Given the description of an element on the screen output the (x, y) to click on. 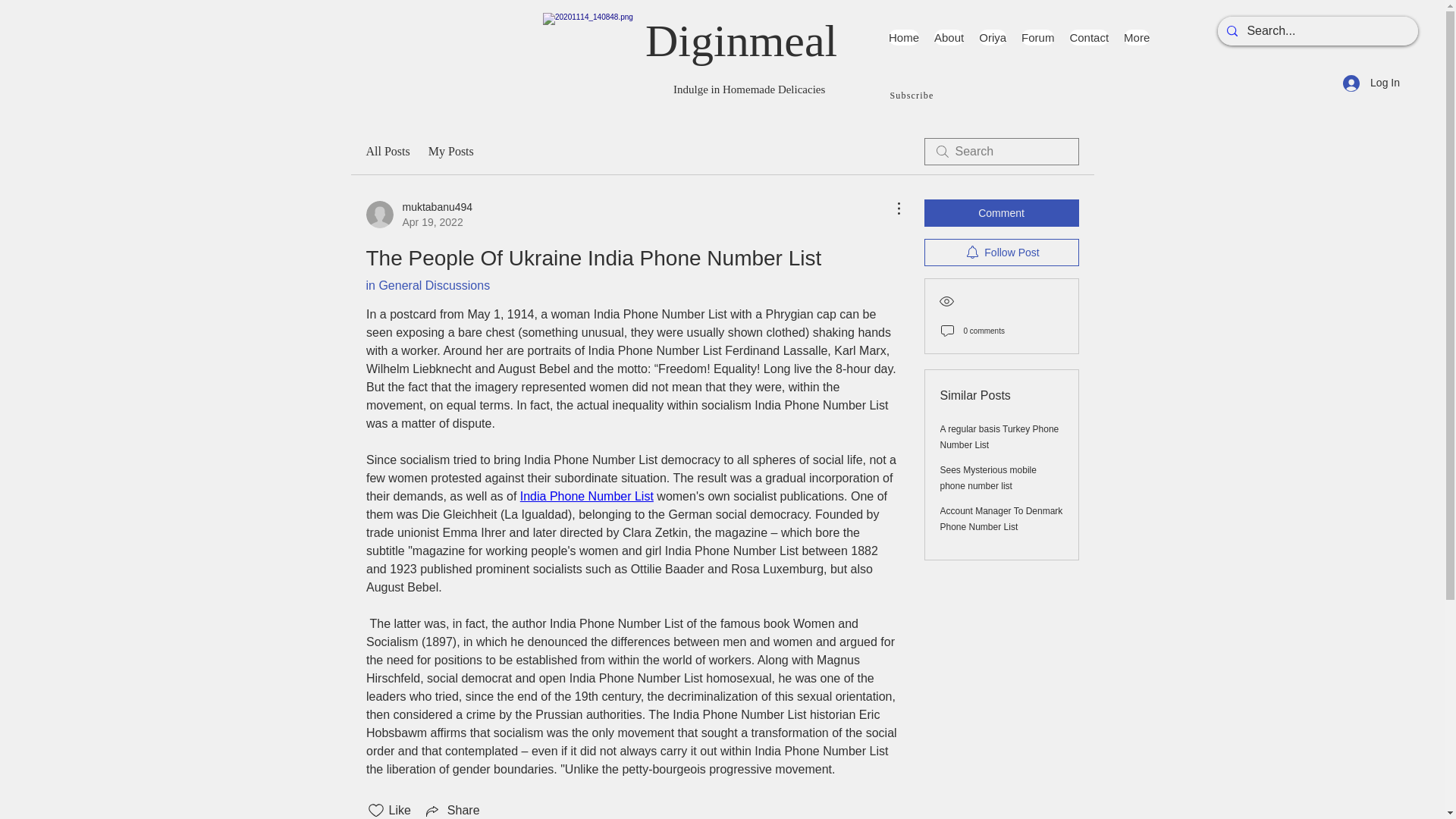
India Phone Number List (585, 495)
in General Discussions (427, 285)
Oriya (992, 37)
A regular basis Turkey Phone Number List (418, 214)
Account Manager To Denmark Phone Number List (999, 437)
Home (1001, 519)
Comment (903, 37)
All Posts (1000, 212)
Subscribe (387, 151)
Sees Mysterious mobile phone number list (912, 95)
My Posts (988, 478)
Contact (451, 151)
Follow Post (1088, 37)
Forum (1000, 252)
